Given the description of an element on the screen output the (x, y) to click on. 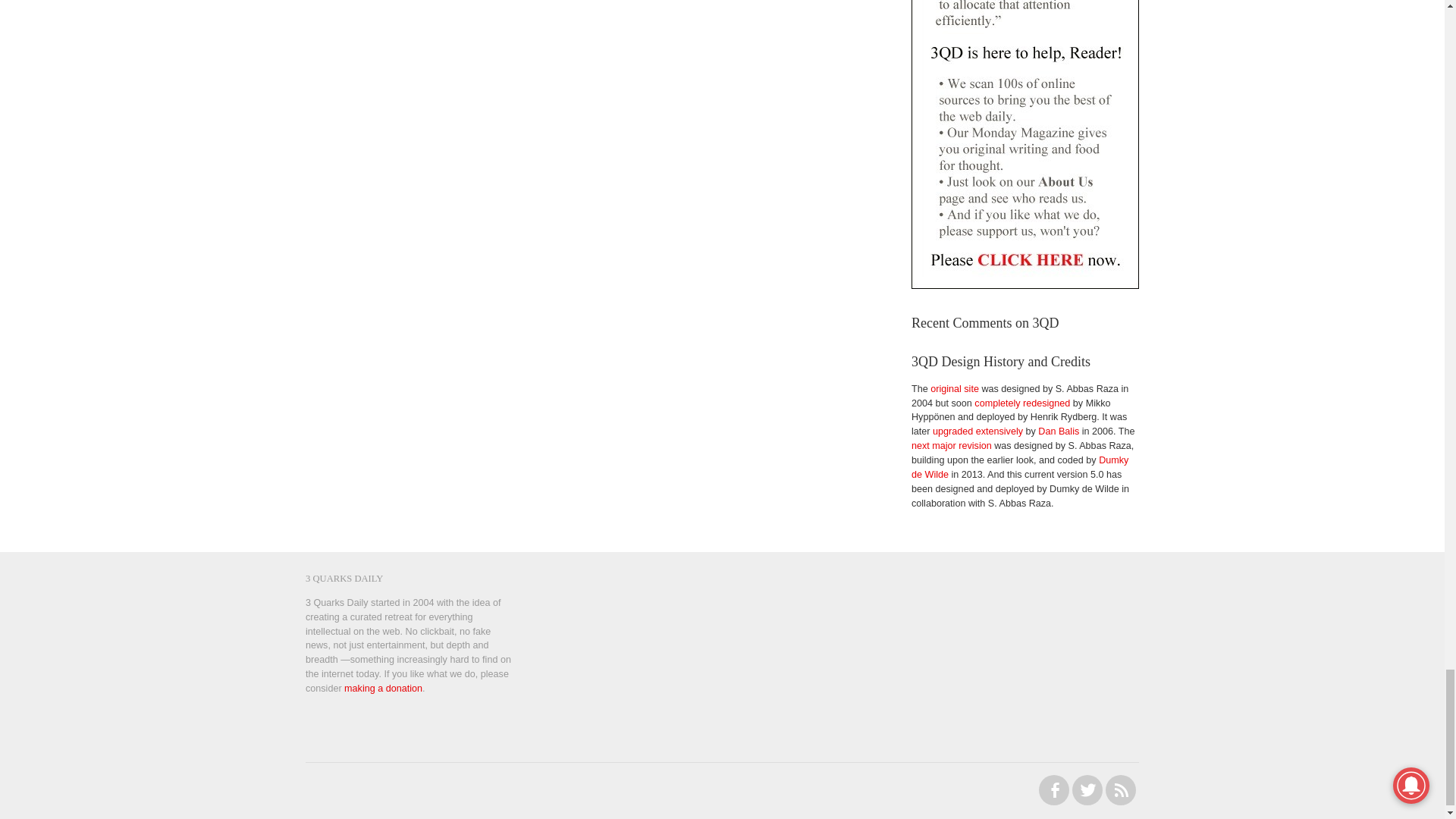
upgraded extensively (978, 430)
completely redesigned (1022, 403)
3rd party ad content (1043, 667)
original site (954, 388)
